Given the description of an element on the screen output the (x, y) to click on. 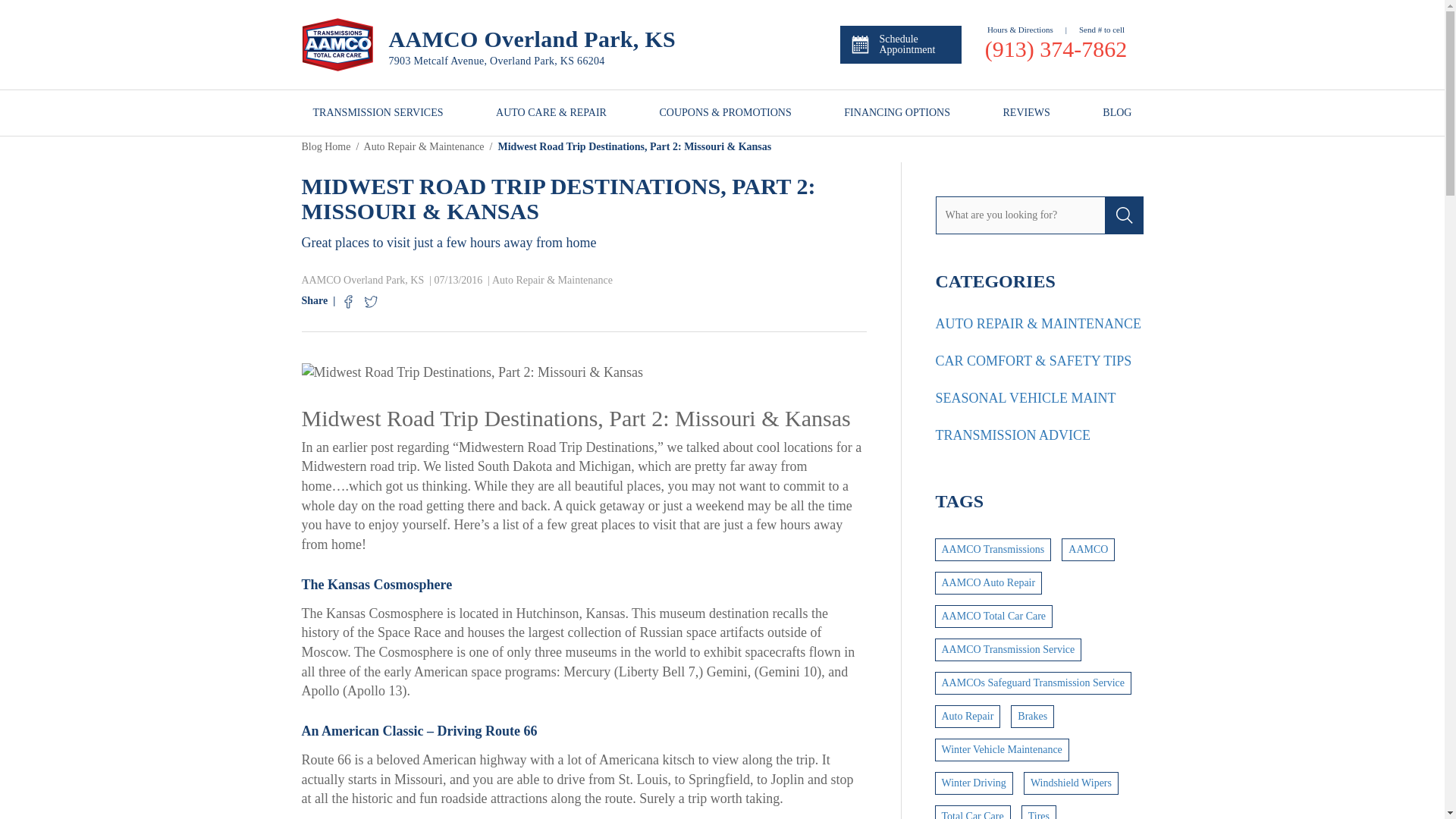
REVIEWS (1026, 112)
TRANSMISSION SERVICES (377, 112)
FINANCING OPTIONS (897, 112)
Schedule Appointment (900, 44)
